Given the description of an element on the screen output the (x, y) to click on. 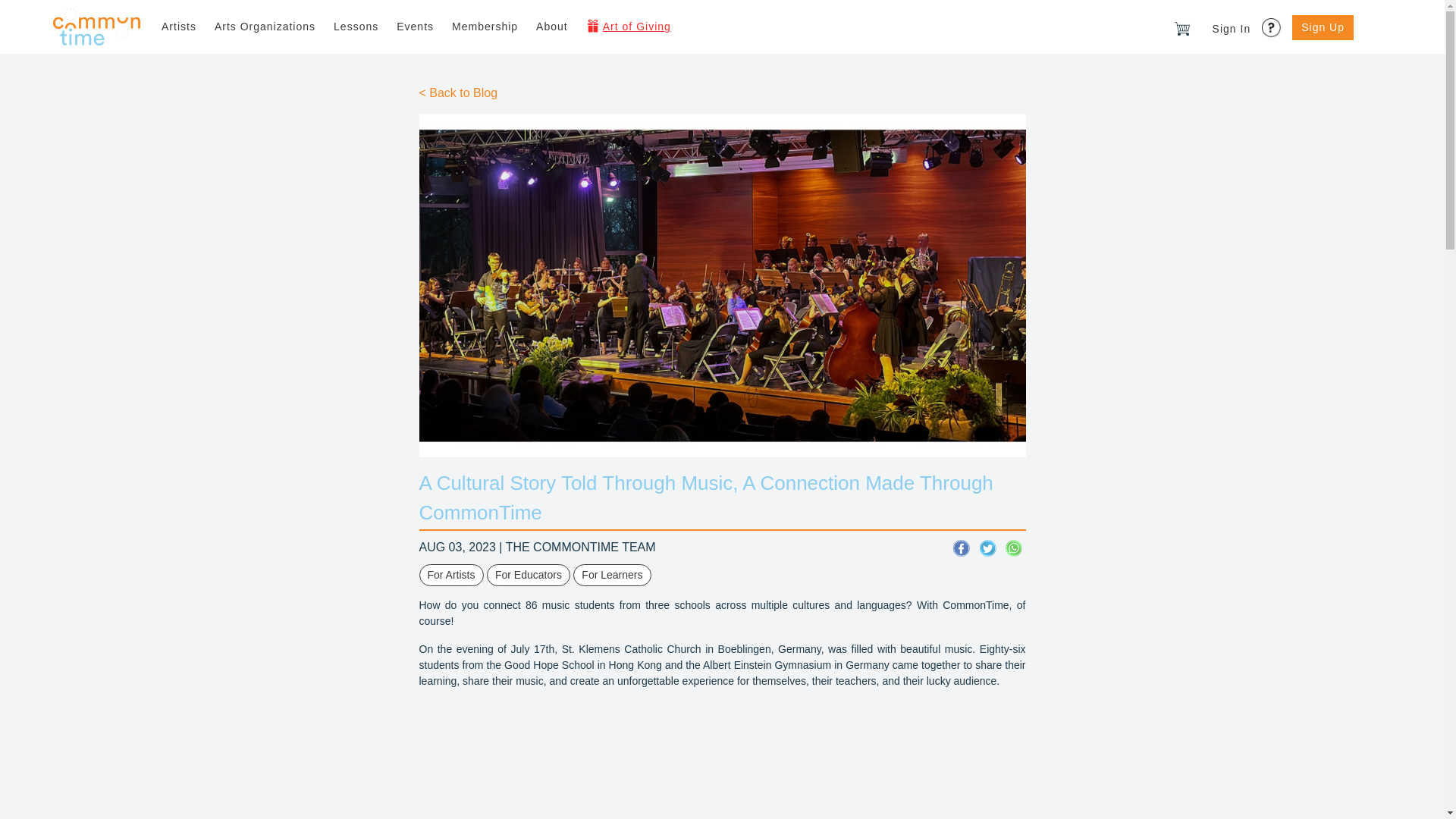
Arts Organizations (264, 26)
For Learners (611, 575)
Lessons (355, 26)
Art of Giving (627, 26)
Membership (484, 26)
For Educators (528, 575)
Sign In (1231, 29)
Sign Up (1323, 27)
YouTube video player (722, 760)
Artists (178, 26)
About (551, 26)
FAQs (1273, 22)
For Artists (451, 575)
Events (414, 26)
